Given the description of an element on the screen output the (x, y) to click on. 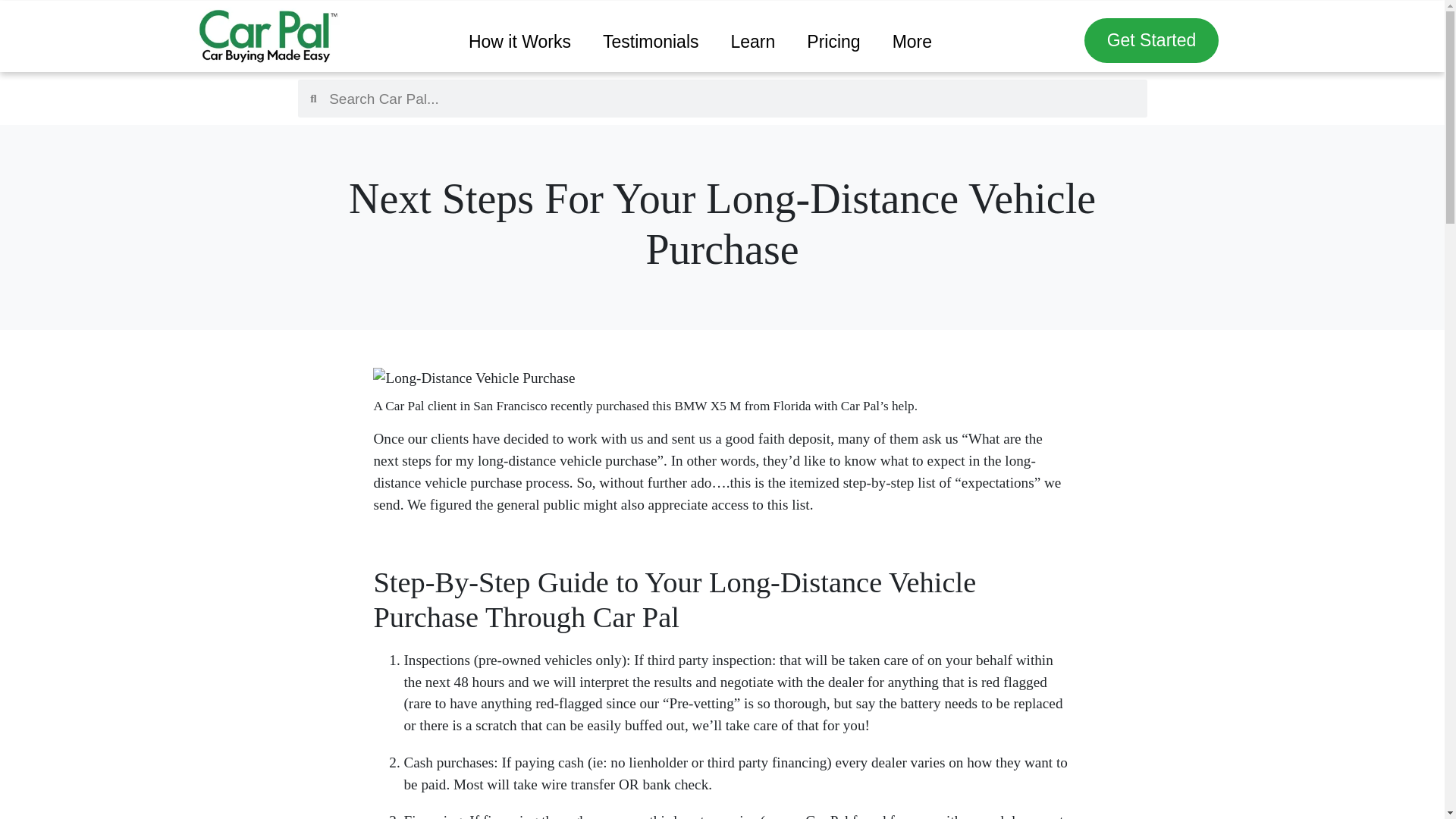
Next Steps For Your Long-Distance Vehicle Purchase 1 (473, 378)
Get Started (1152, 40)
Testimonials (651, 42)
Pricing (833, 42)
Learn (753, 42)
How it Works (519, 42)
More (912, 42)
